Given the description of an element on the screen output the (x, y) to click on. 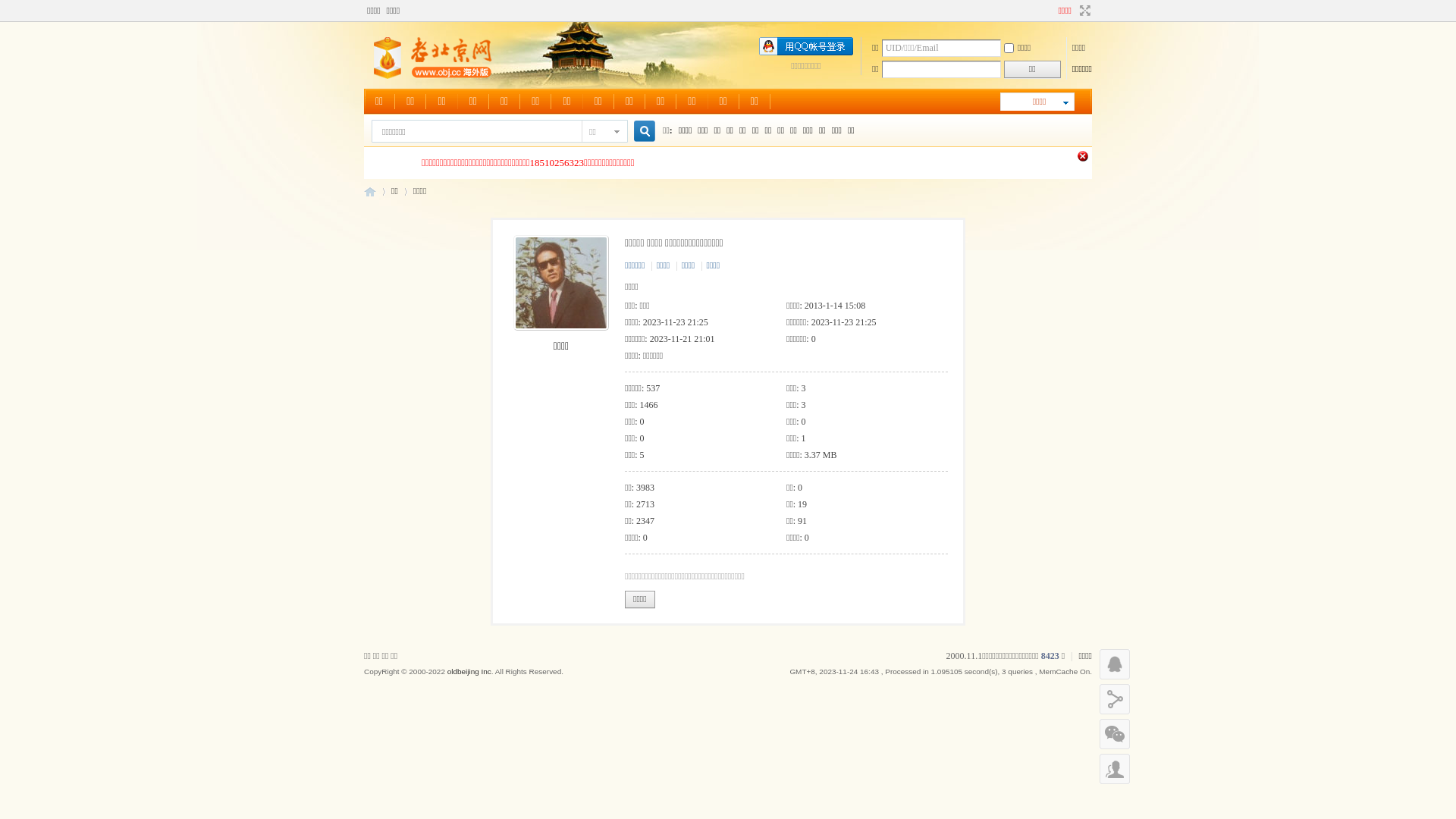
true Element type: text (638, 131)
oldbeijing Inc Element type: text (469, 671)
